Given the description of an element on the screen output the (x, y) to click on. 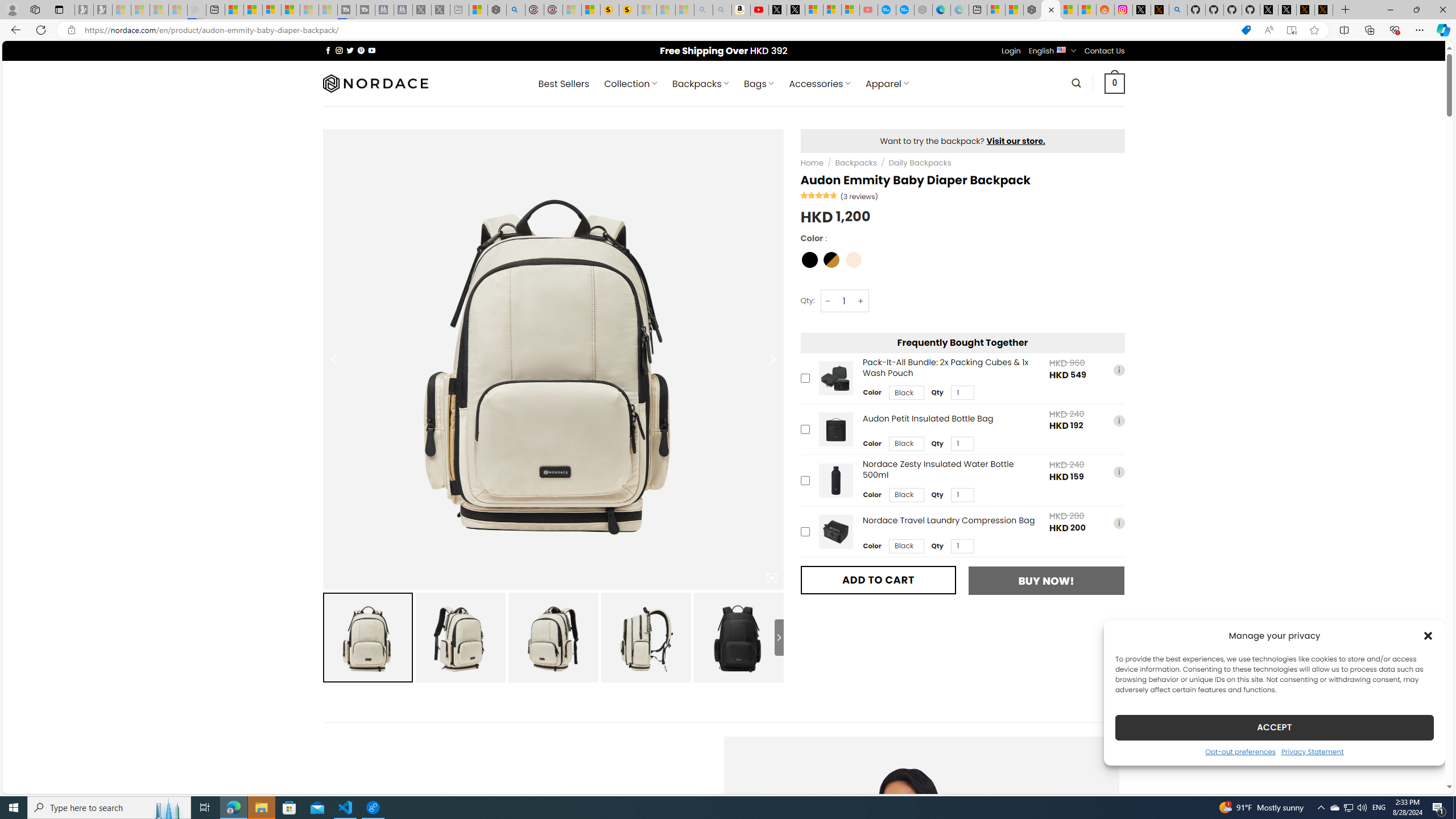
(3 reviews) (858, 196)
Opt-out preferences (1240, 750)
Nordace - Nordace has arrived Hong Kong - Sleeping (923, 9)
Add this product to cart (804, 531)
Opinion: Op-Ed and Commentary - USA TODAY (887, 9)
i (1118, 522)
